Given the description of an element on the screen output the (x, y) to click on. 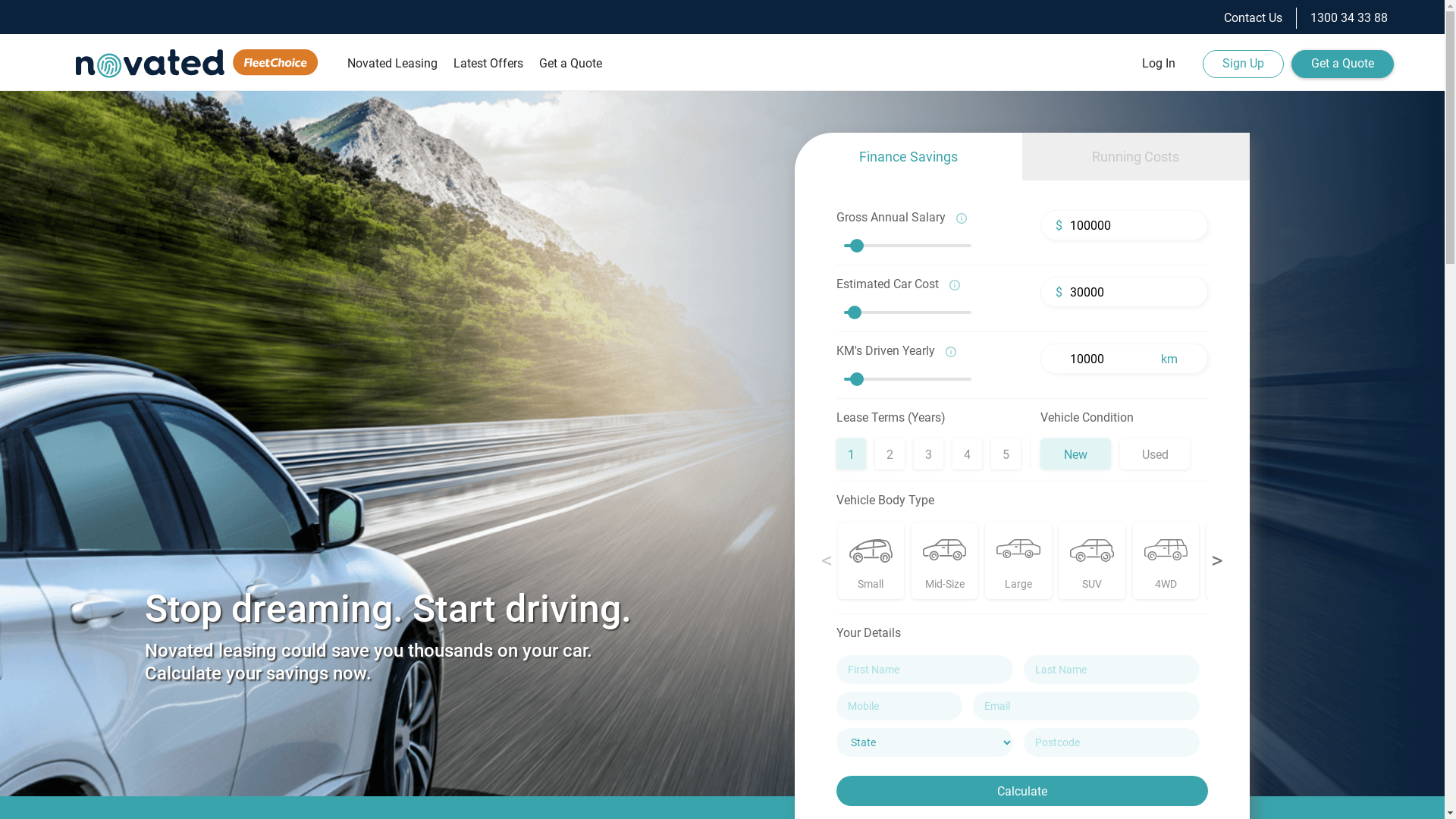
Contact Us Element type: text (1252, 17)
Log In Element type: text (1158, 64)
Calculate Element type: text (1022, 790)
Get a Quote Element type: text (570, 70)
Latest Offers Element type: text (488, 70)
1300 34 33 88 Element type: text (1348, 17)
> Element type: text (1217, 559)
Get a Quote Element type: text (1342, 64)
< Element type: text (826, 559)
Sign Up Element type: text (1242, 64)
Novated Leasing Element type: text (392, 70)
